Given the description of an element on the screen output the (x, y) to click on. 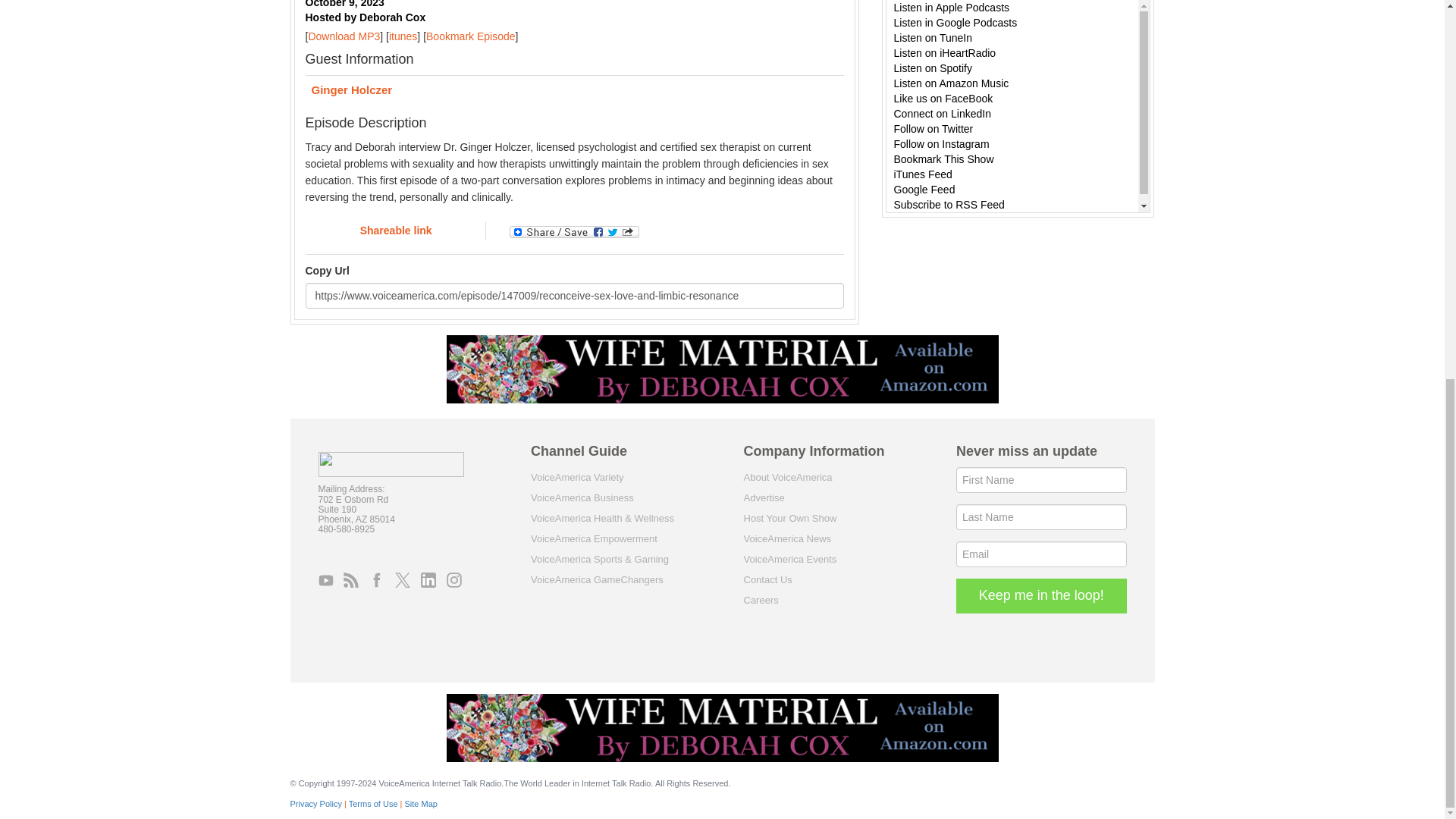
itunes (402, 36)
Download MP3 (343, 36)
Ginger Holczer (573, 91)
